Given the description of an element on the screen output the (x, y) to click on. 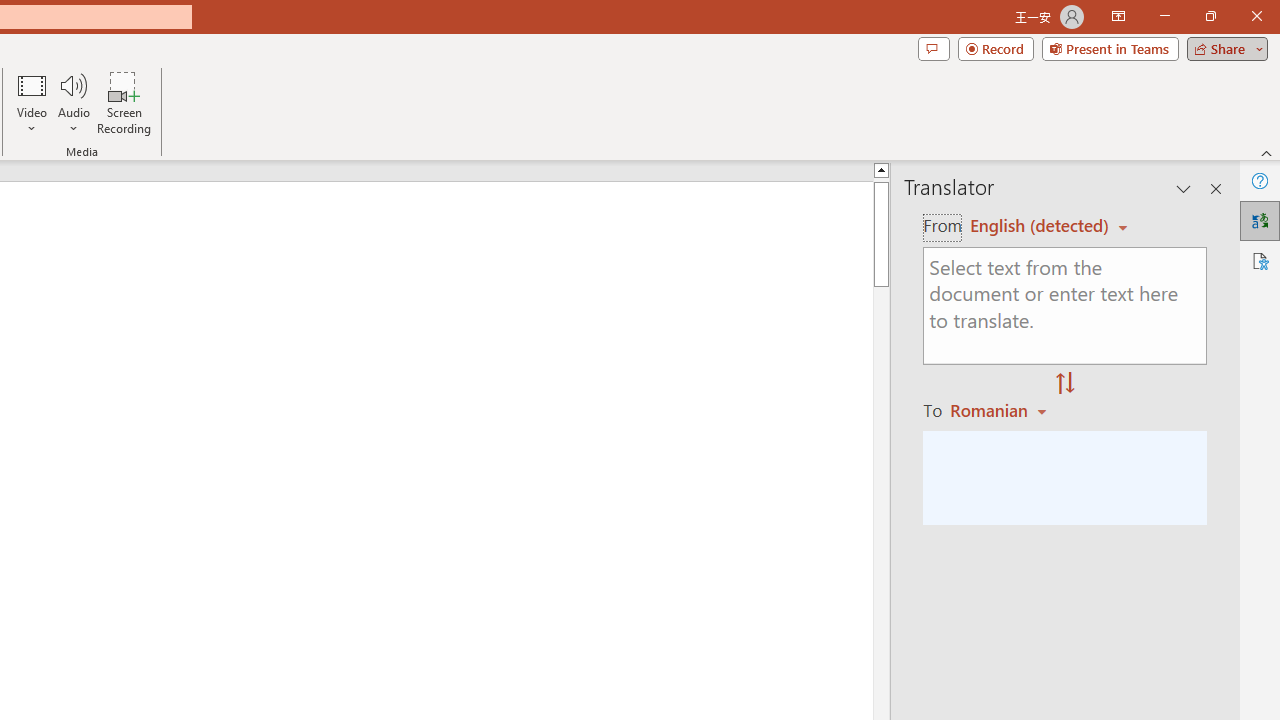
Romanian (1001, 409)
Video (31, 102)
Screen Recording... (123, 102)
Czech (detected) (1039, 225)
